Given the description of an element on the screen output the (x, y) to click on. 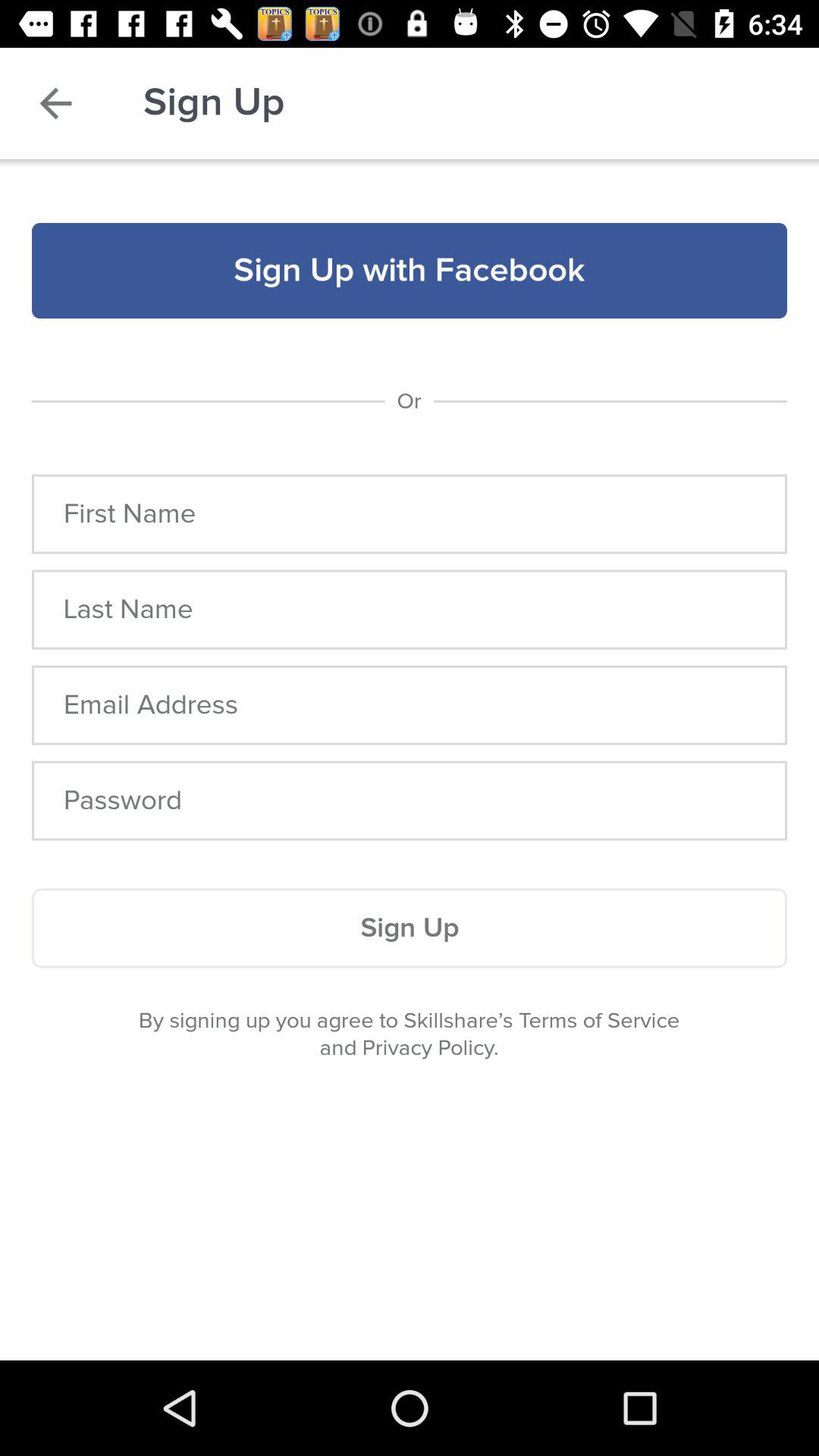
enter first name (409, 513)
